Given the description of an element on the screen output the (x, y) to click on. 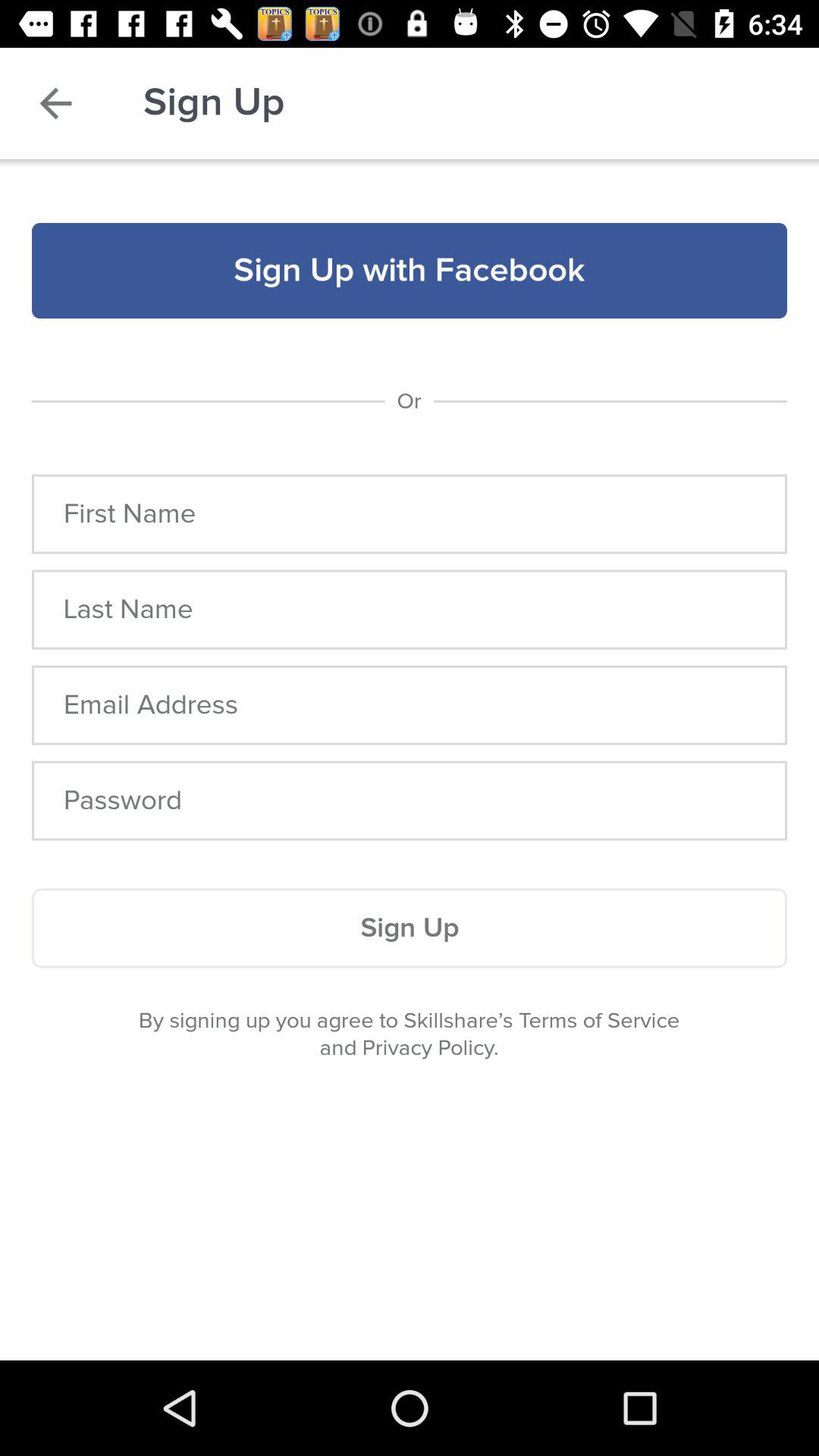
enter first name (409, 513)
